Given the description of an element on the screen output the (x, y) to click on. 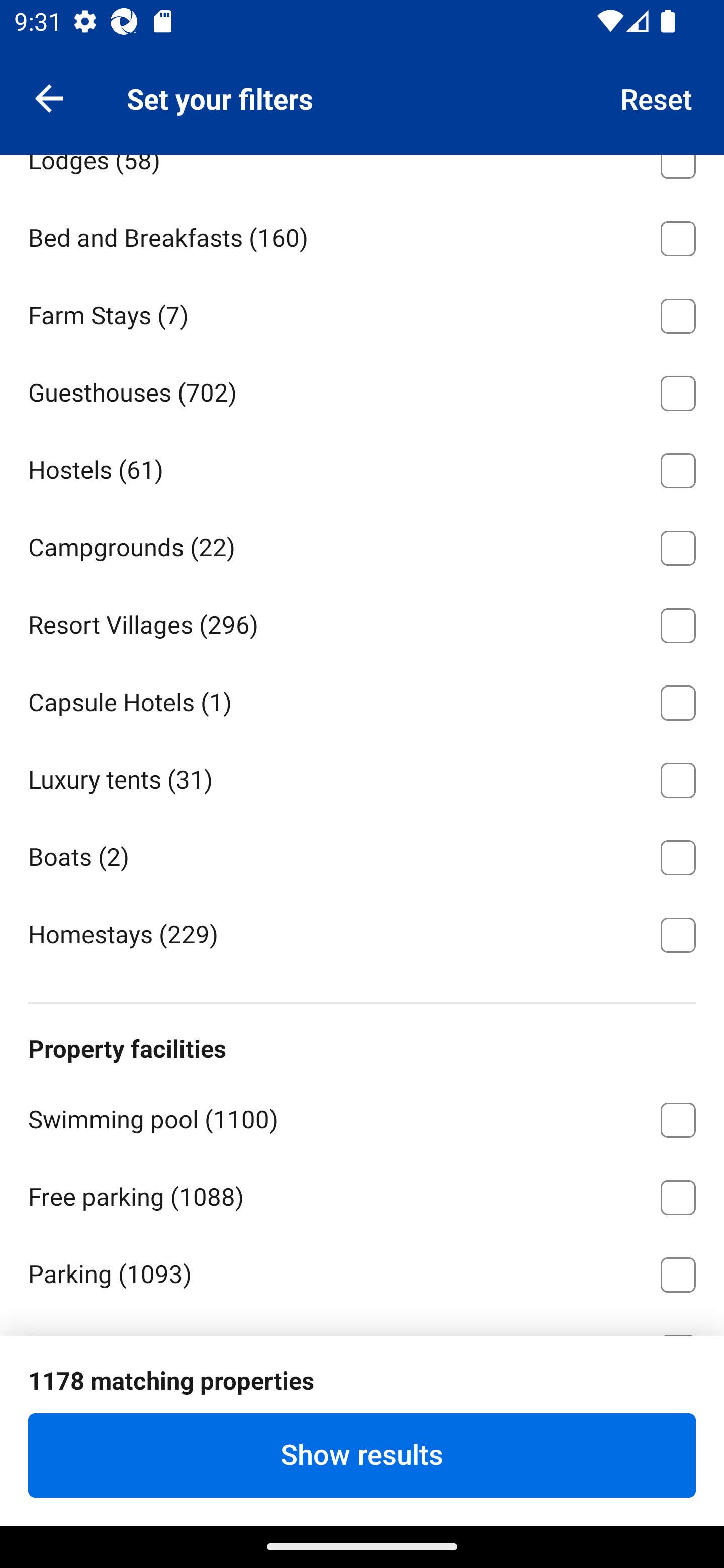
Country Houses ⁦(12) (361, 80)
Navigate up (49, 97)
Reset (656, 97)
Lodges ⁦(58) (361, 175)
Bed and Breakfasts ⁦(160) (361, 235)
Farm Stays ⁦(7) (361, 312)
Guesthouses ⁦(702) (361, 389)
Hostels ⁦(61) (361, 467)
Campgrounds ⁦(22) (361, 544)
Resort Villages ⁦(296) (361, 621)
Capsule Hotels ⁦(1) (361, 699)
Luxury tents ⁦(31) (361, 776)
Boats ⁦(2) (361, 854)
Homestays ⁦(229) (361, 933)
Swimming pool ⁦(1100) (361, 1116)
Free parking ⁦(1088) (361, 1193)
Parking ⁦(1093) (361, 1271)
Show results (361, 1454)
